Given the description of an element on the screen output the (x, y) to click on. 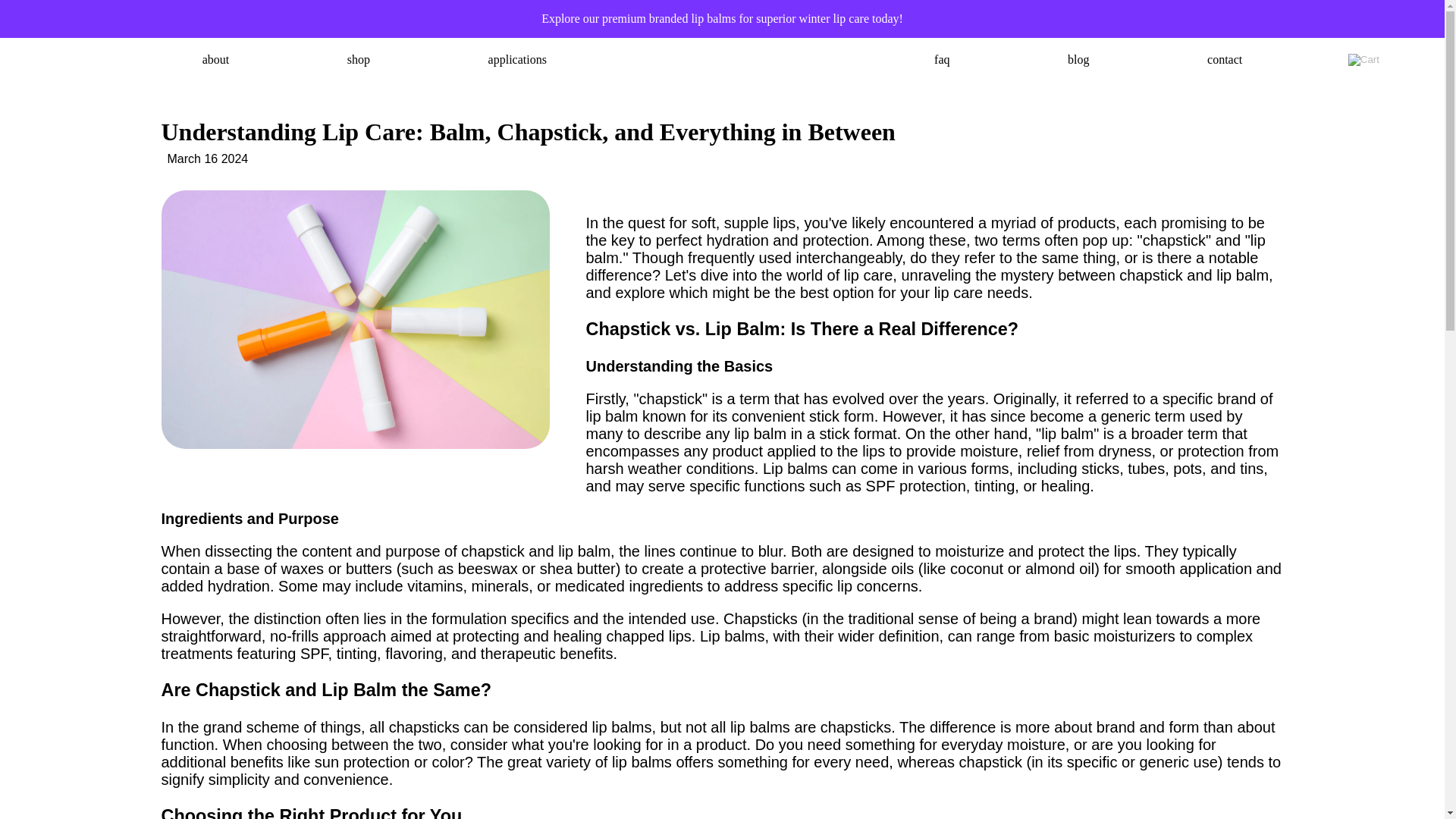
blog (1078, 59)
applications (517, 59)
contact (1224, 59)
shop (358, 59)
about (216, 59)
faq (941, 59)
